Given the description of an element on the screen output the (x, y) to click on. 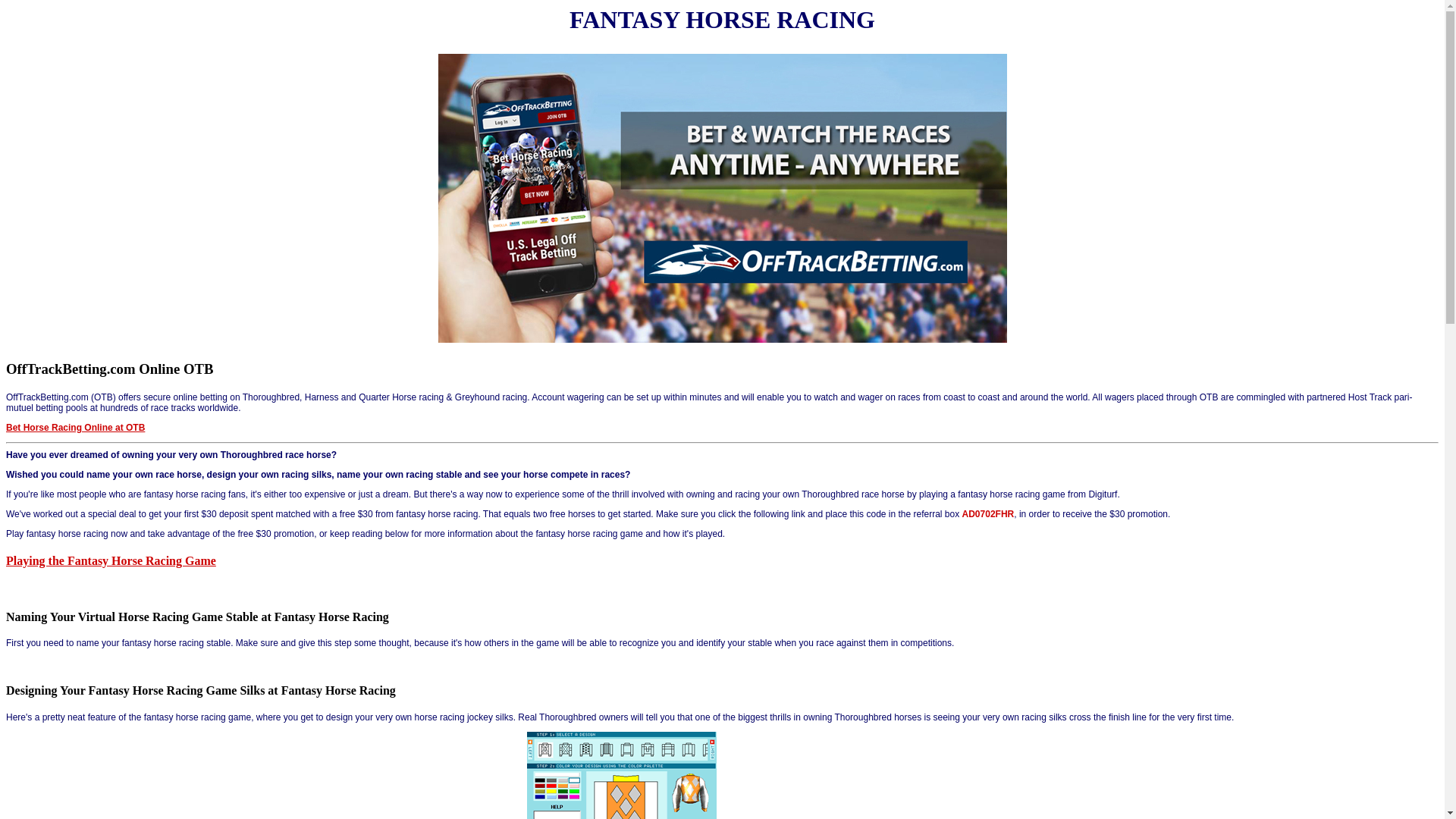
Horse Betting Online Element type: hover (722, 339)
Bet Horse Racing Online at OTB Element type: text (75, 427)
